Given the description of an element on the screen output the (x, y) to click on. 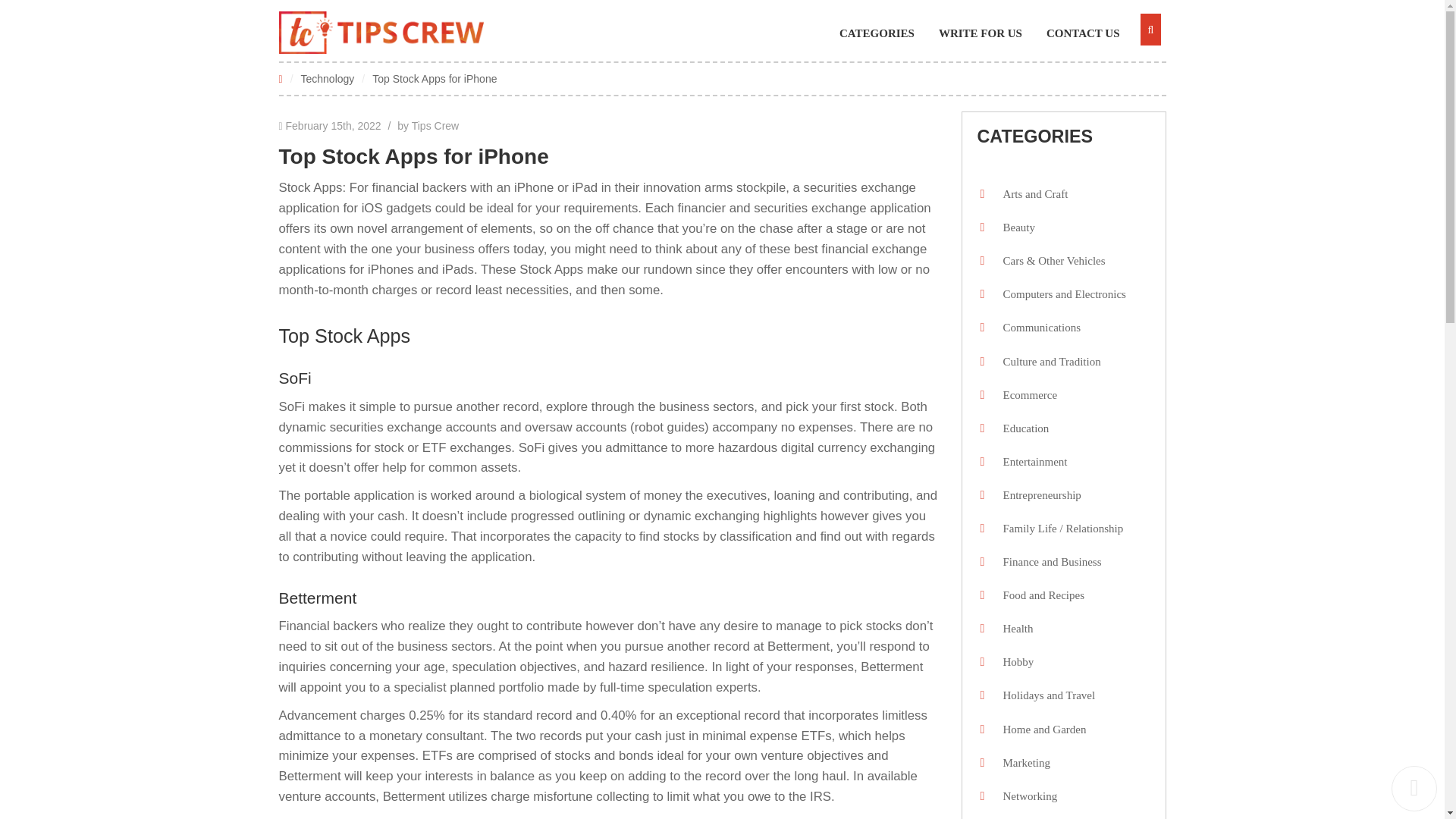
Arts and Craft (1030, 193)
Communications (1037, 327)
TIPSCREW (381, 32)
Technology (328, 78)
Entertainment (1030, 461)
Culture and Tradition (1047, 361)
Ecommerce (1025, 394)
WRITE FOR US (987, 33)
Education (1021, 428)
Technology (328, 78)
